Given the description of an element on the screen output the (x, y) to click on. 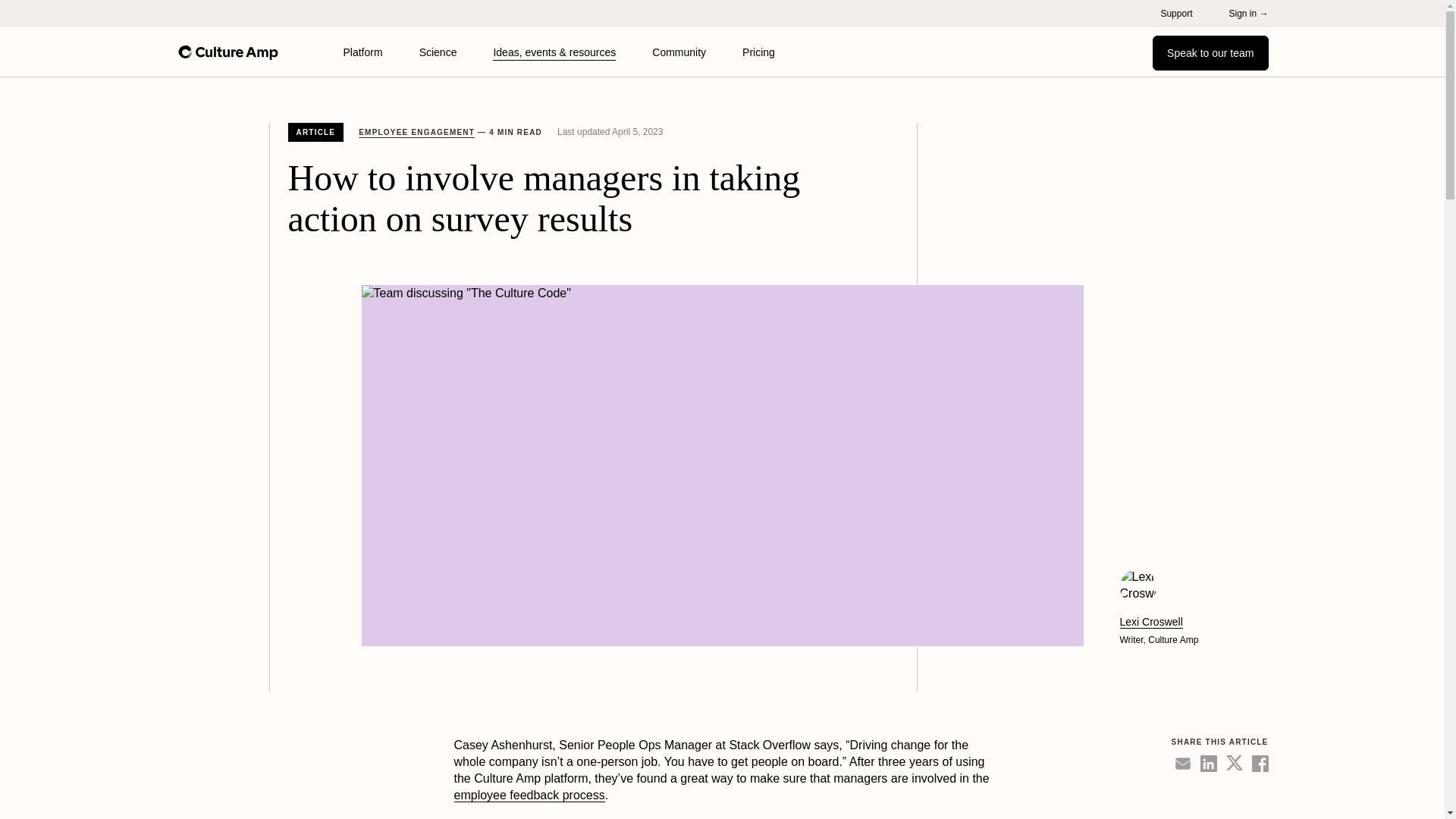
Support (1176, 13)
Science (438, 51)
Platform (362, 51)
